Given the description of an element on the screen output the (x, y) to click on. 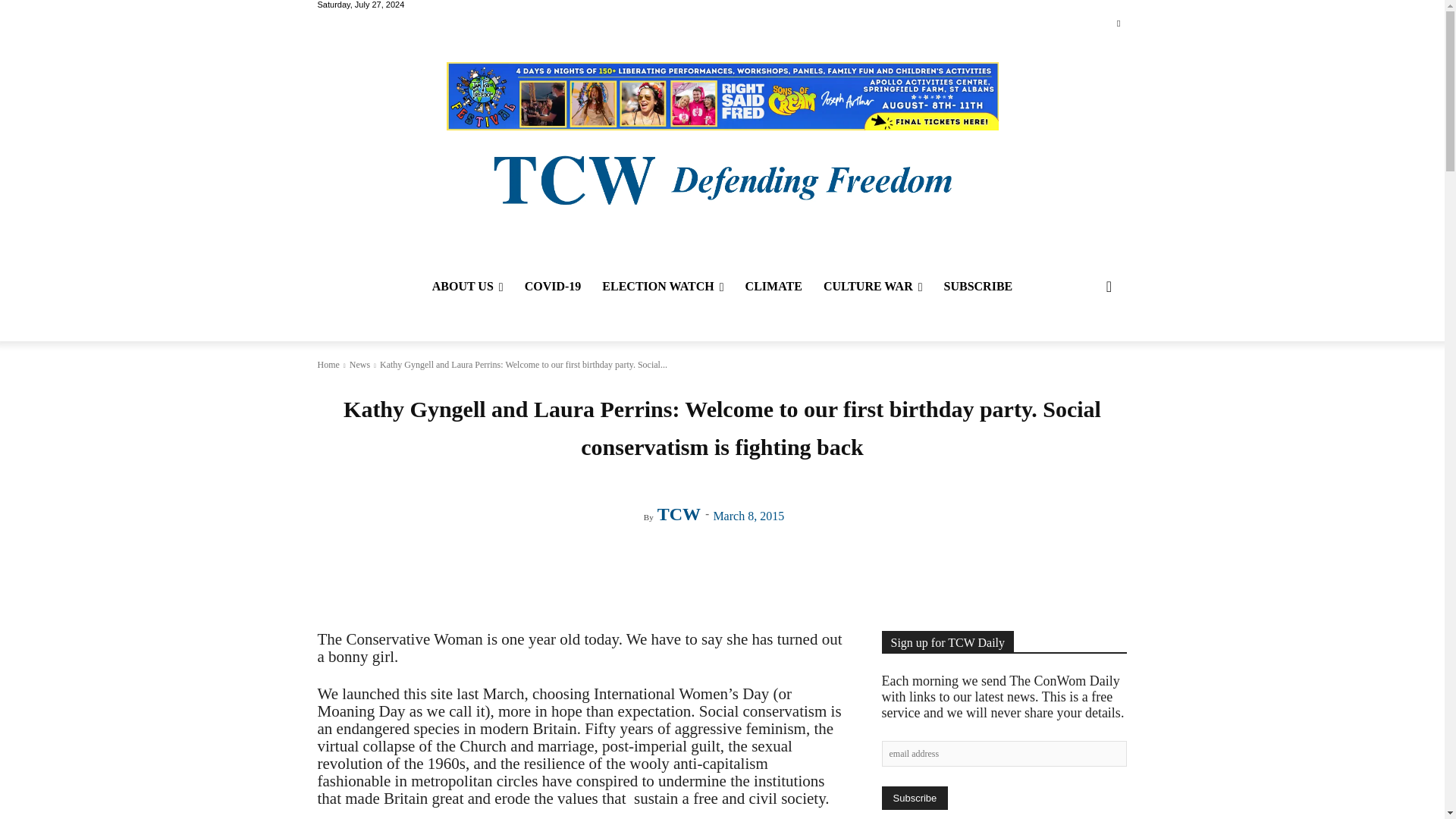
Subscribe (913, 797)
COVID-19 (552, 286)
Twitter (1117, 23)
View all posts in News (359, 364)
ELECTION WATCH (662, 286)
CLIMATE (773, 286)
ABOUT US (467, 286)
The Conservative Woman (721, 178)
